Given the description of an element on the screen output the (x, y) to click on. 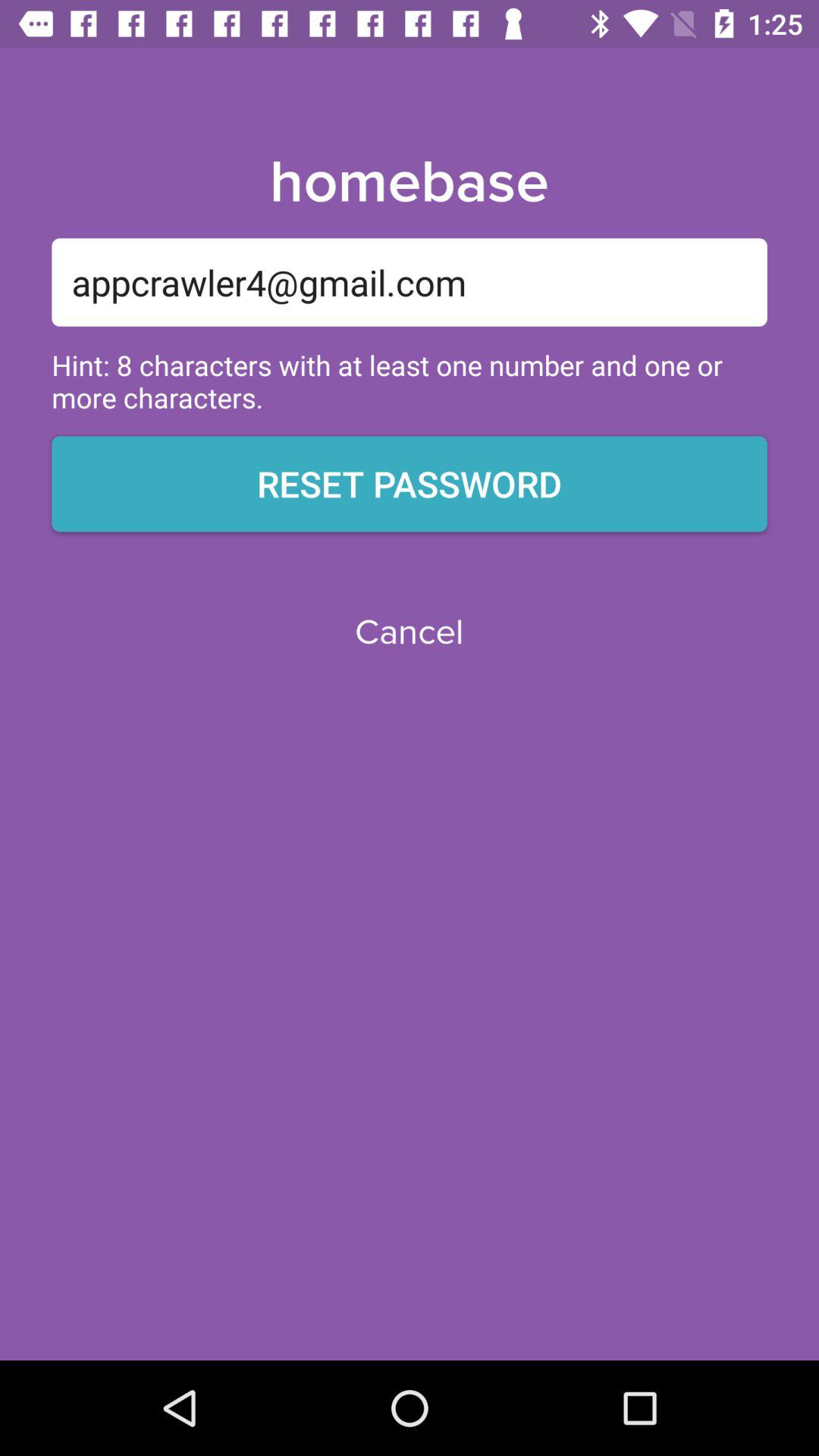
press item below homebase (409, 282)
